Given the description of an element on the screen output the (x, y) to click on. 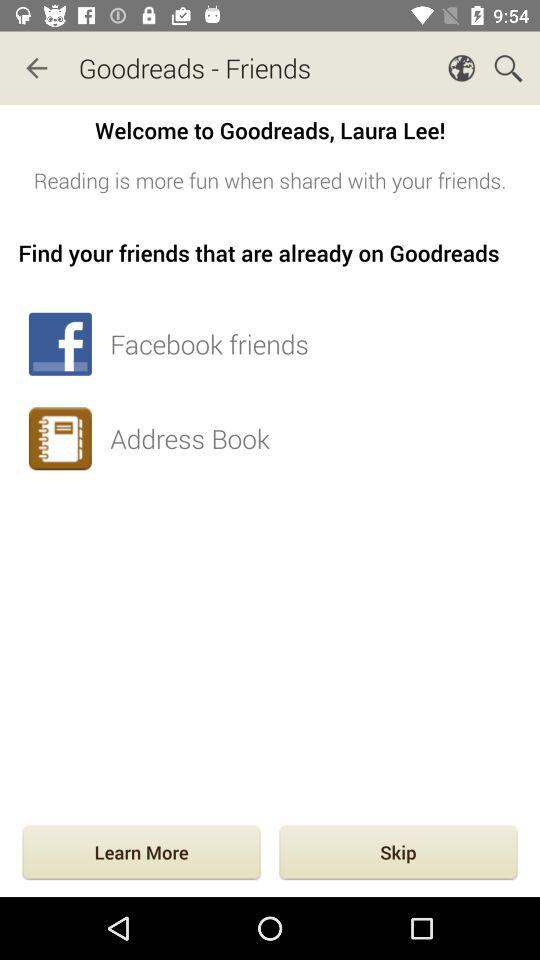
scroll to the learn more (141, 854)
